Given the description of an element on the screen output the (x, y) to click on. 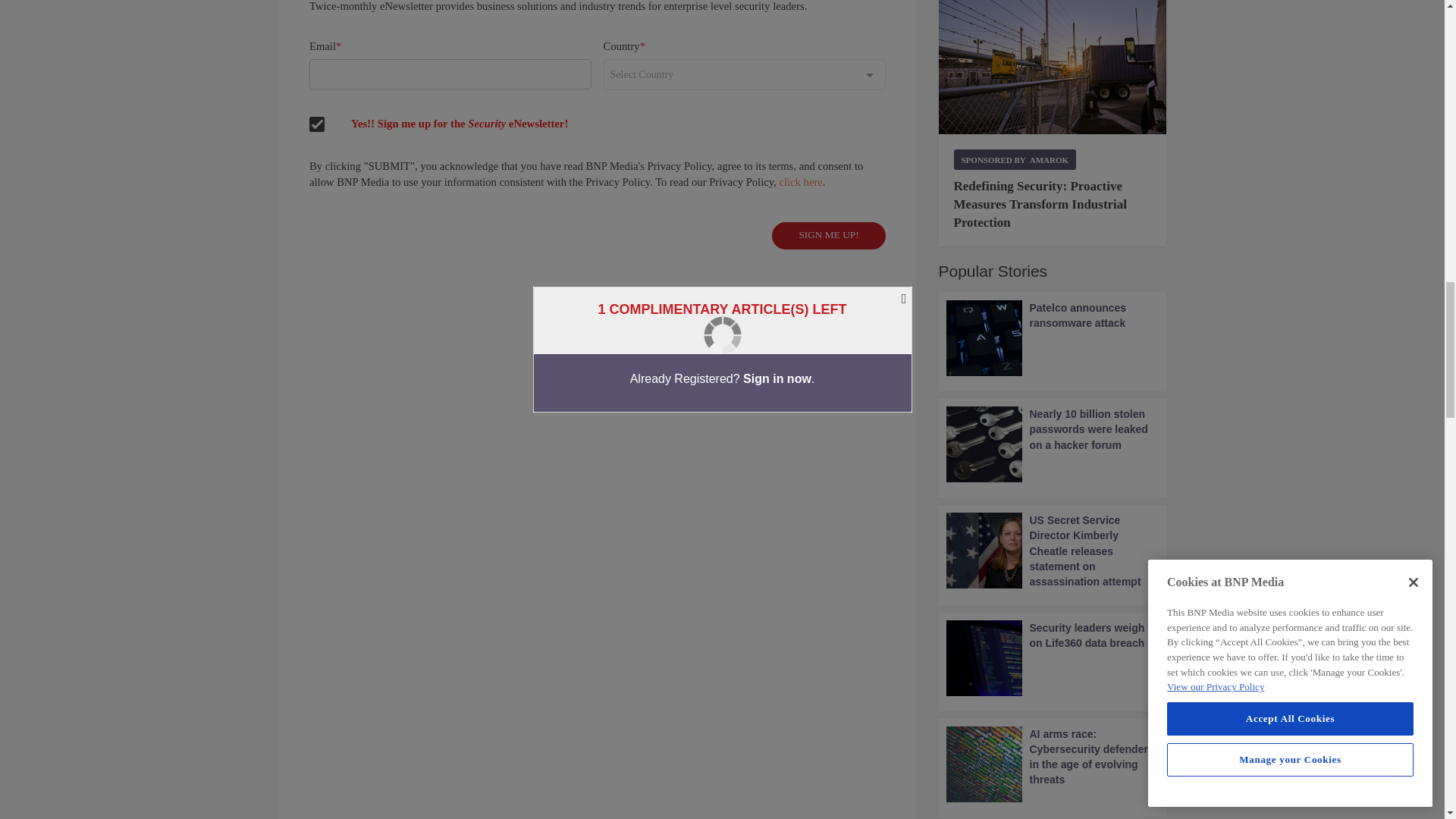
Patelco announces ransomware attack (1052, 337)
Security leaders weigh in on Life360 data breach (1052, 657)
AMAROK Security Gate (1052, 67)
Sponsored by AMAROK (1015, 159)
